Given the description of an element on the screen output the (x, y) to click on. 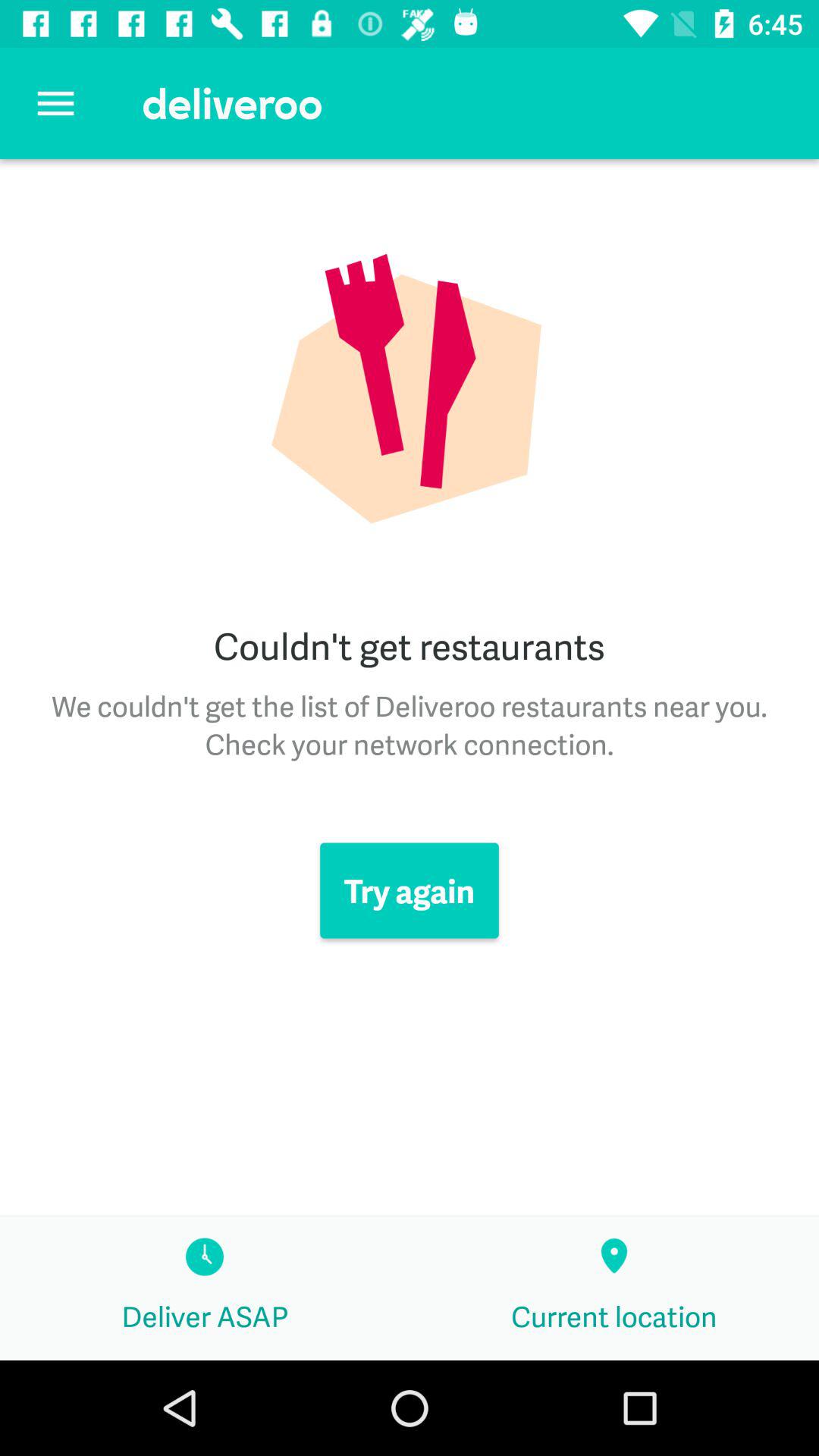
choose the item to the left of the current location (204, 1288)
